Given the description of an element on the screen output the (x, y) to click on. 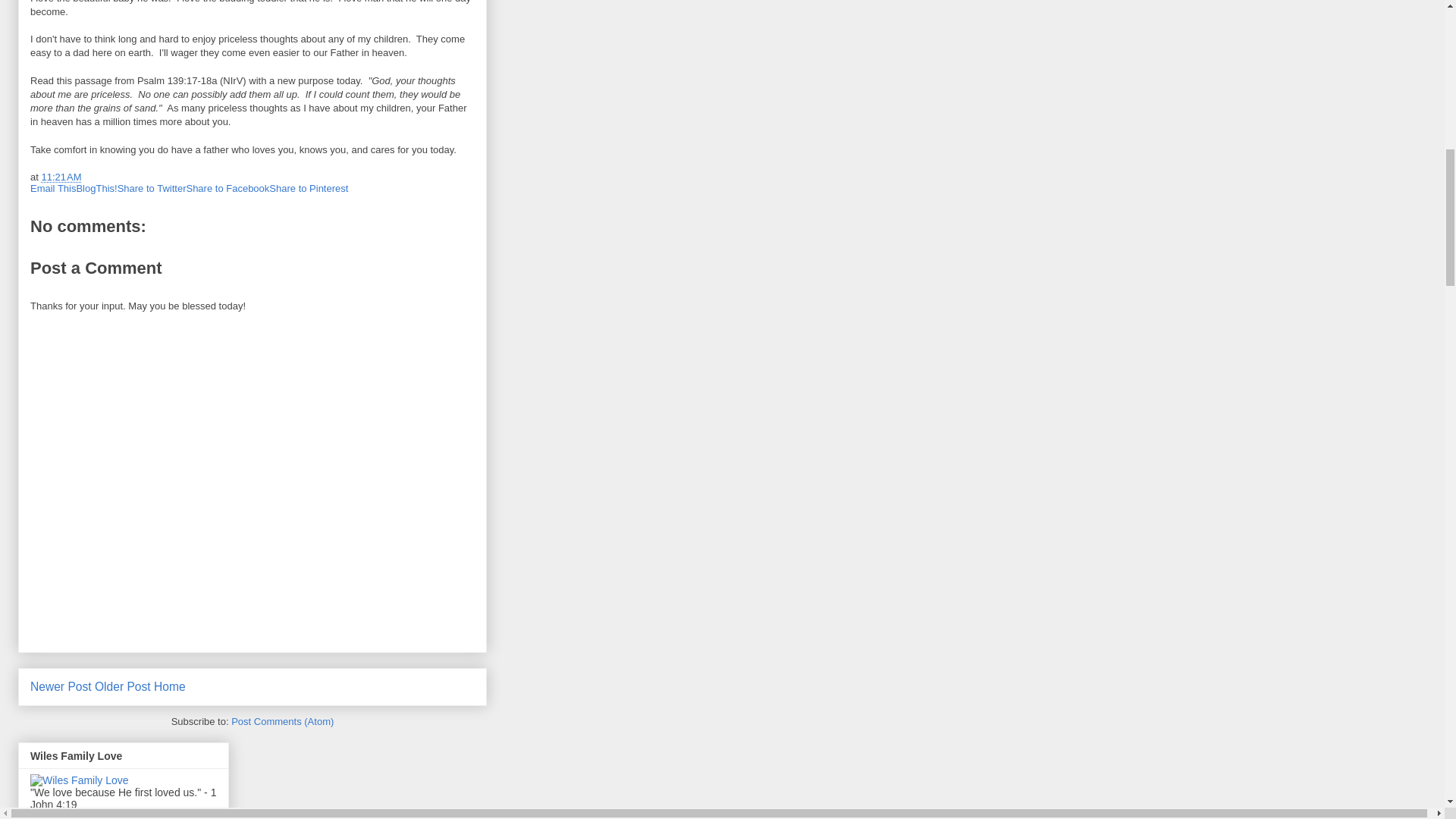
Share to Facebook (227, 188)
Newer Post (60, 686)
Share to Pinterest (308, 188)
Share to Twitter (151, 188)
Share to Pinterest (308, 188)
BlogThis! (95, 188)
BlogThis! (95, 188)
permanent link (60, 176)
Email This (52, 188)
Older Post (122, 686)
Home (170, 686)
Share to Facebook (227, 188)
Share to Twitter (151, 188)
Older Post (122, 686)
